Given the description of an element on the screen output the (x, y) to click on. 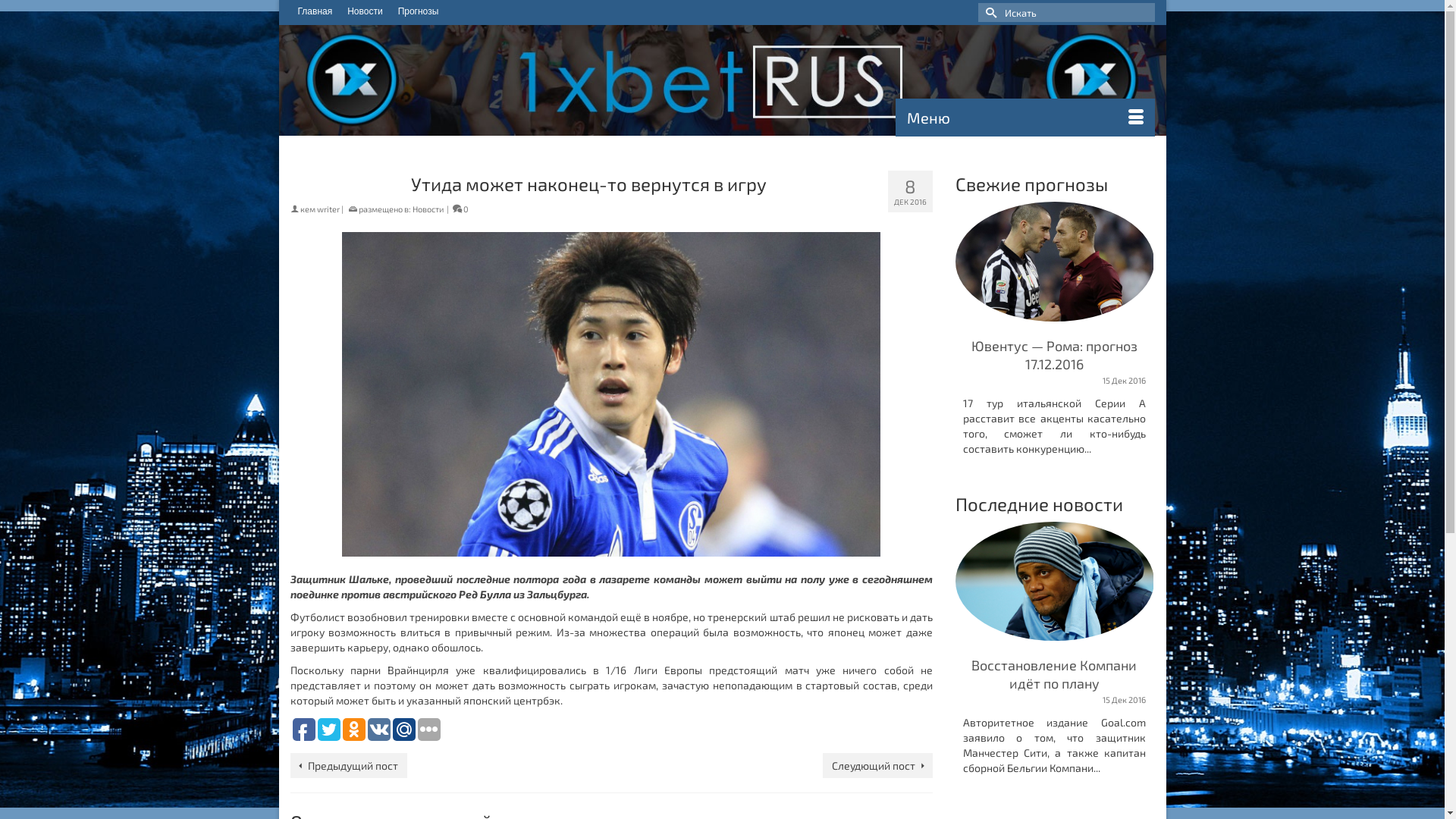
0 Element type: text (459, 208)
writer Element type: text (327, 208)
